Given the description of an element on the screen output the (x, y) to click on. 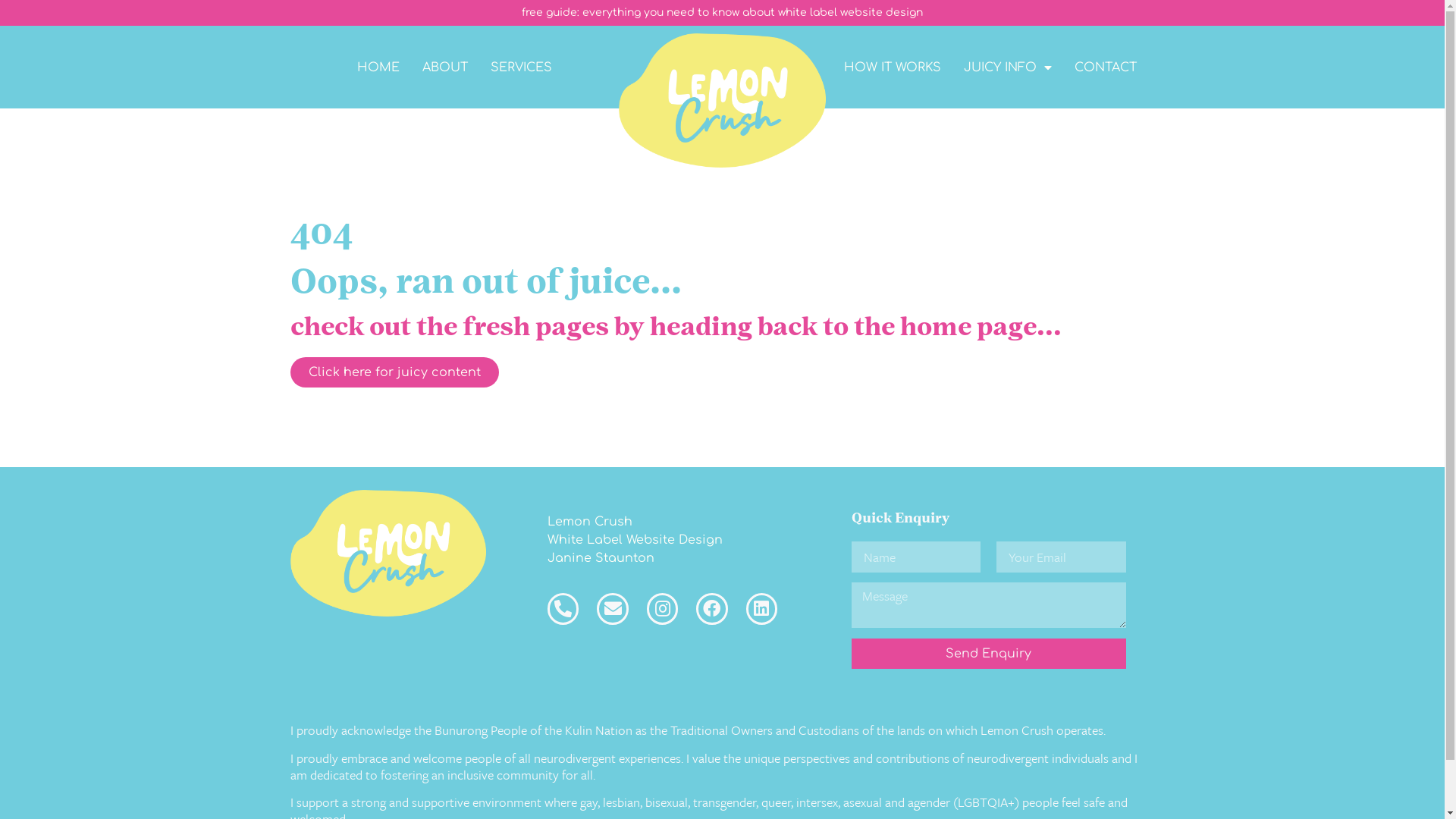
HOW IT WORKS Element type: text (892, 67)
Click here for juicy content Element type: text (393, 372)
HOME Element type: text (378, 67)
ABOUT Element type: text (444, 67)
SERVICES Element type: text (521, 67)
JUICY INFO Element type: text (1007, 67)
CONTACT Element type: text (1105, 67)
Send Enquiry Element type: text (988, 653)
Quick Enquiry Element type: text (900, 518)
